Given the description of an element on the screen output the (x, y) to click on. 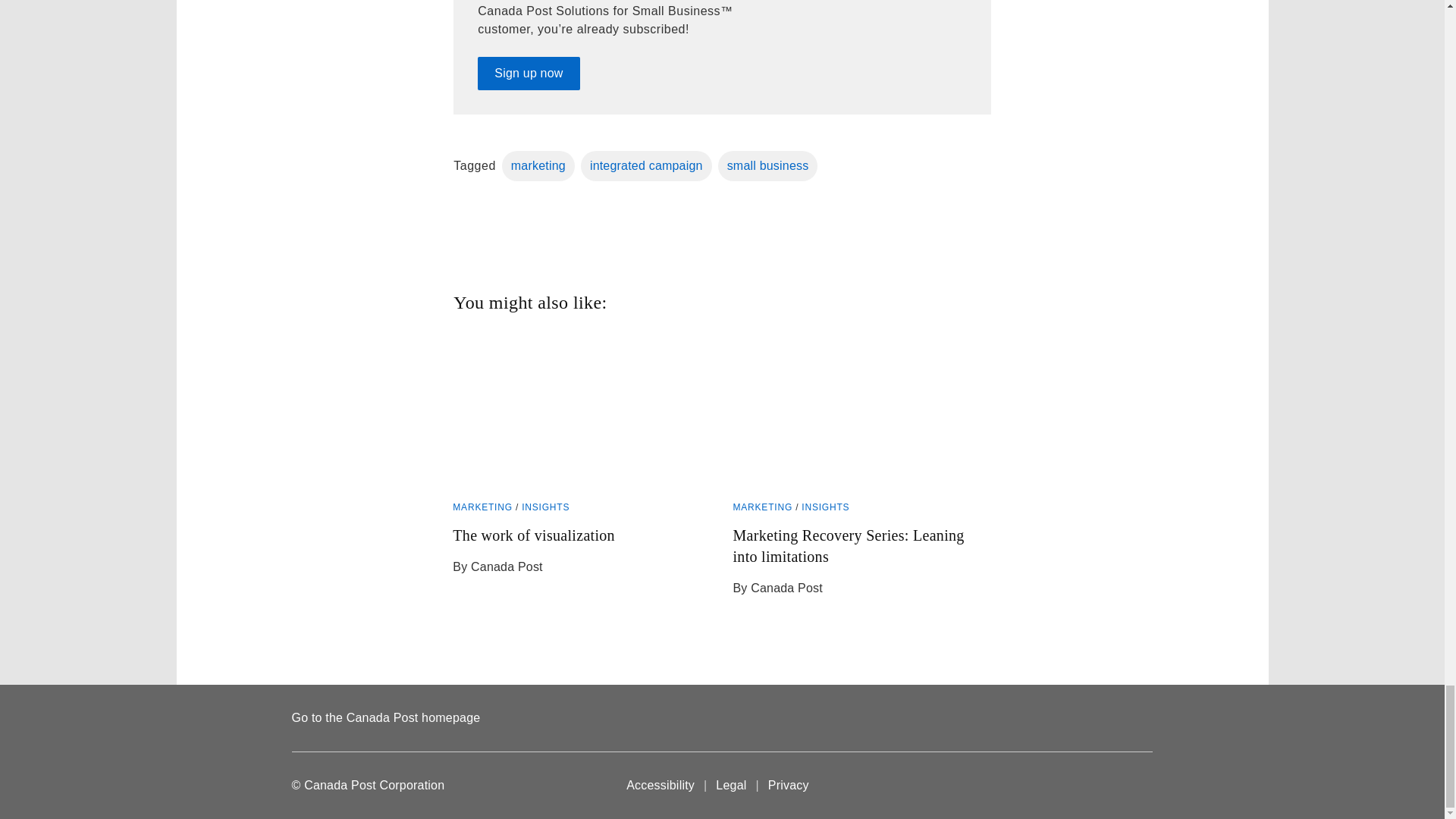
Canada (1123, 784)
small business (580, 553)
integrated campaign (767, 165)
marketing (645, 165)
INSIGHTS (538, 165)
INSIGHTS (545, 507)
MARKETING (825, 507)
MARKETING (762, 507)
Sign up now (482, 507)
